Given the description of an element on the screen output the (x, y) to click on. 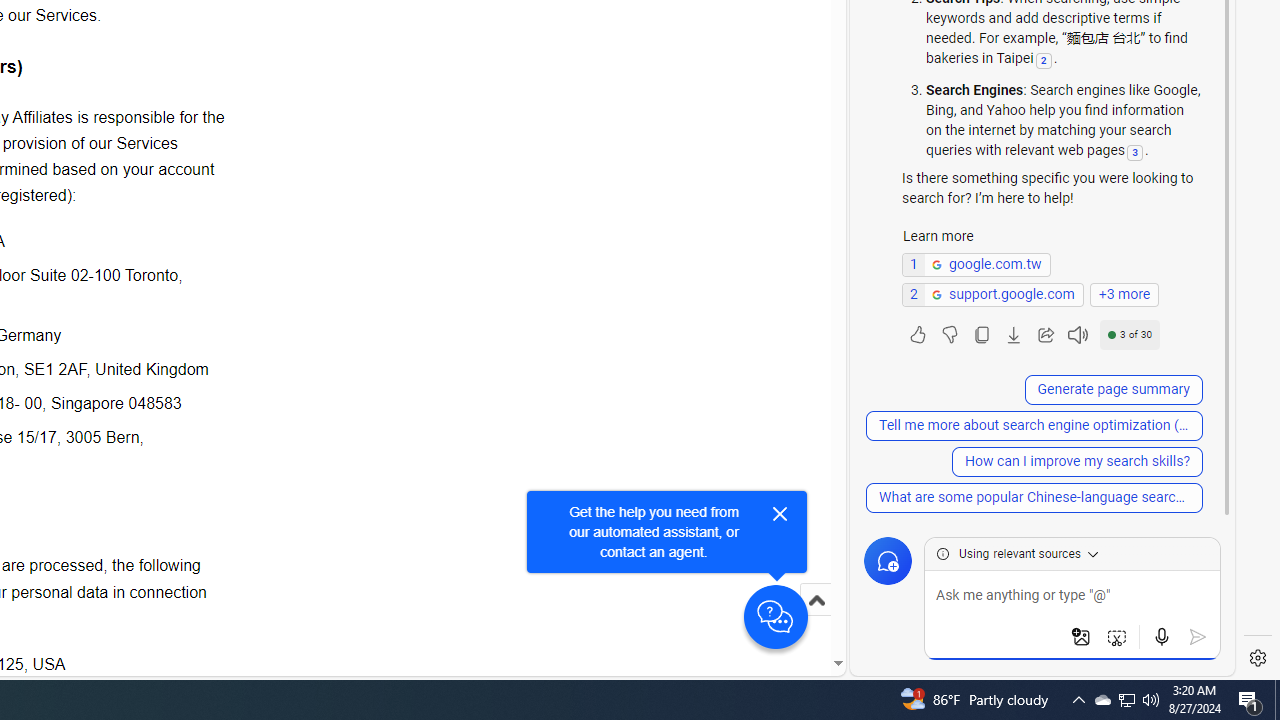
Scroll to top (816, 599)
Scroll to top (816, 620)
